Given the description of an element on the screen output the (x, y) to click on. 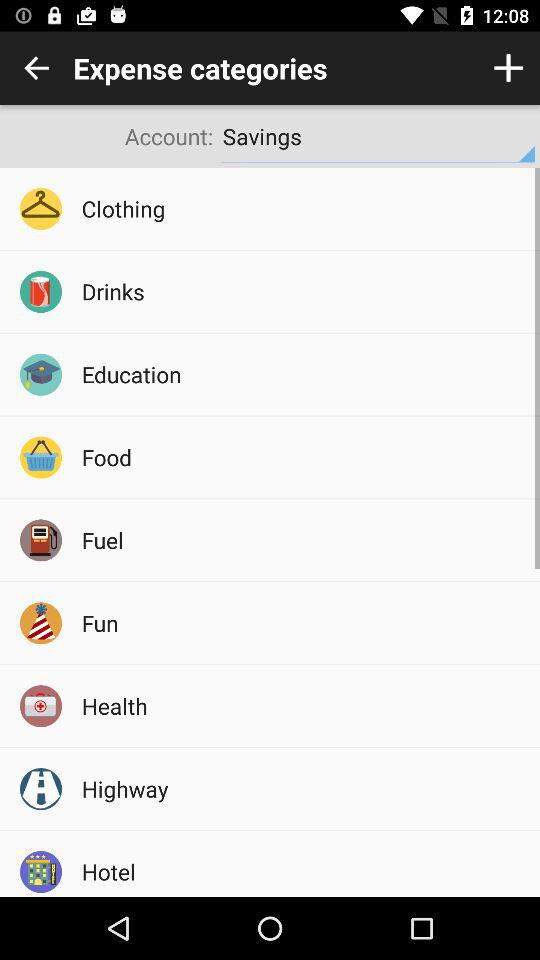
select the item above the drinks item (303, 208)
